Given the description of an element on the screen output the (x, y) to click on. 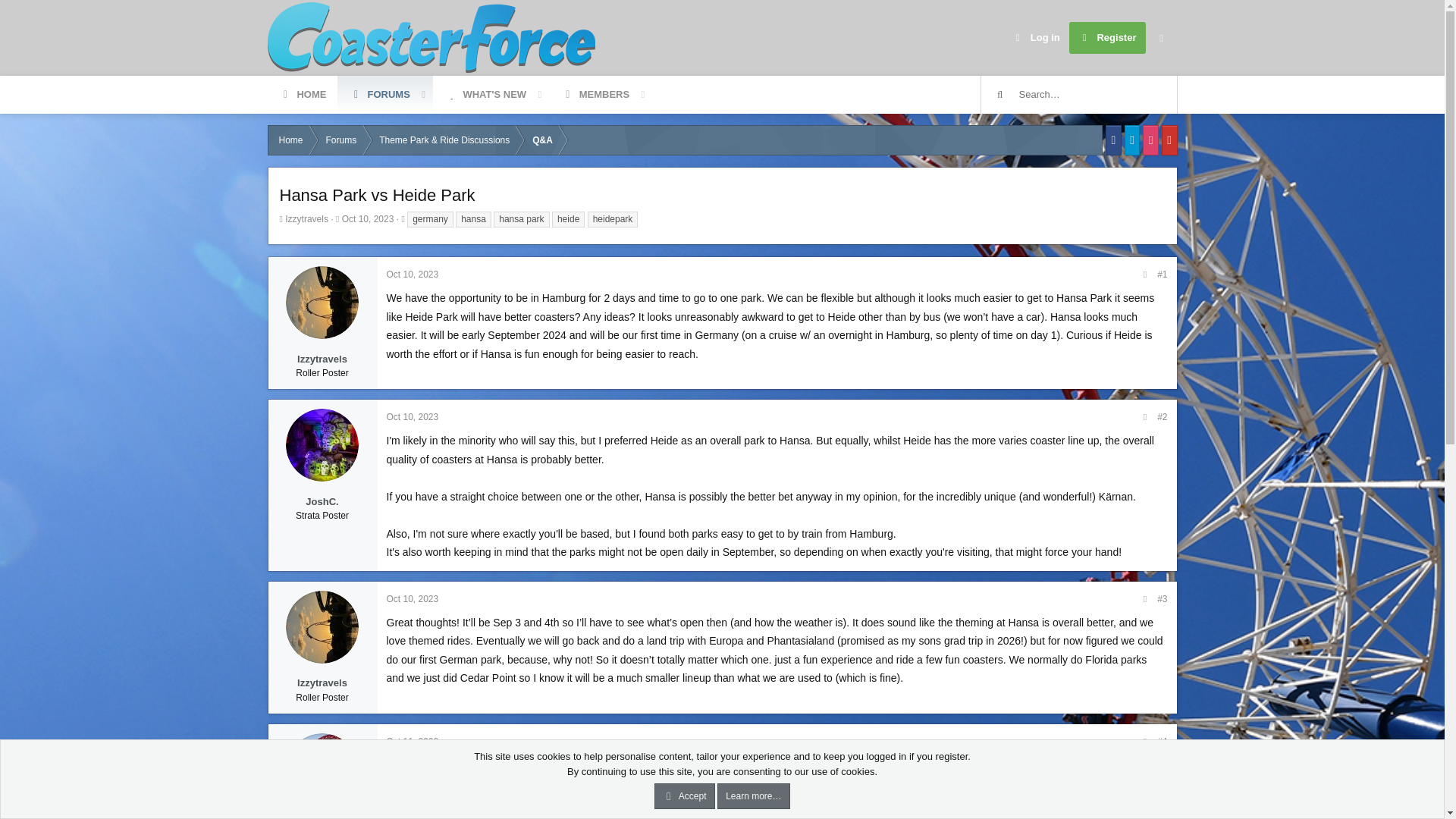
WHAT'S NEW (484, 94)
Oct 10, 2023 at 7:04 PM (459, 94)
HOME (368, 218)
FORUMS (301, 94)
Oct 10, 2023 at 7:04 PM (459, 112)
Log in (378, 94)
Oct 10, 2023 at 7:24 PM (413, 274)
Oct 11, 2023 at 9:48 PM (1035, 38)
